Given the description of an element on the screen output the (x, y) to click on. 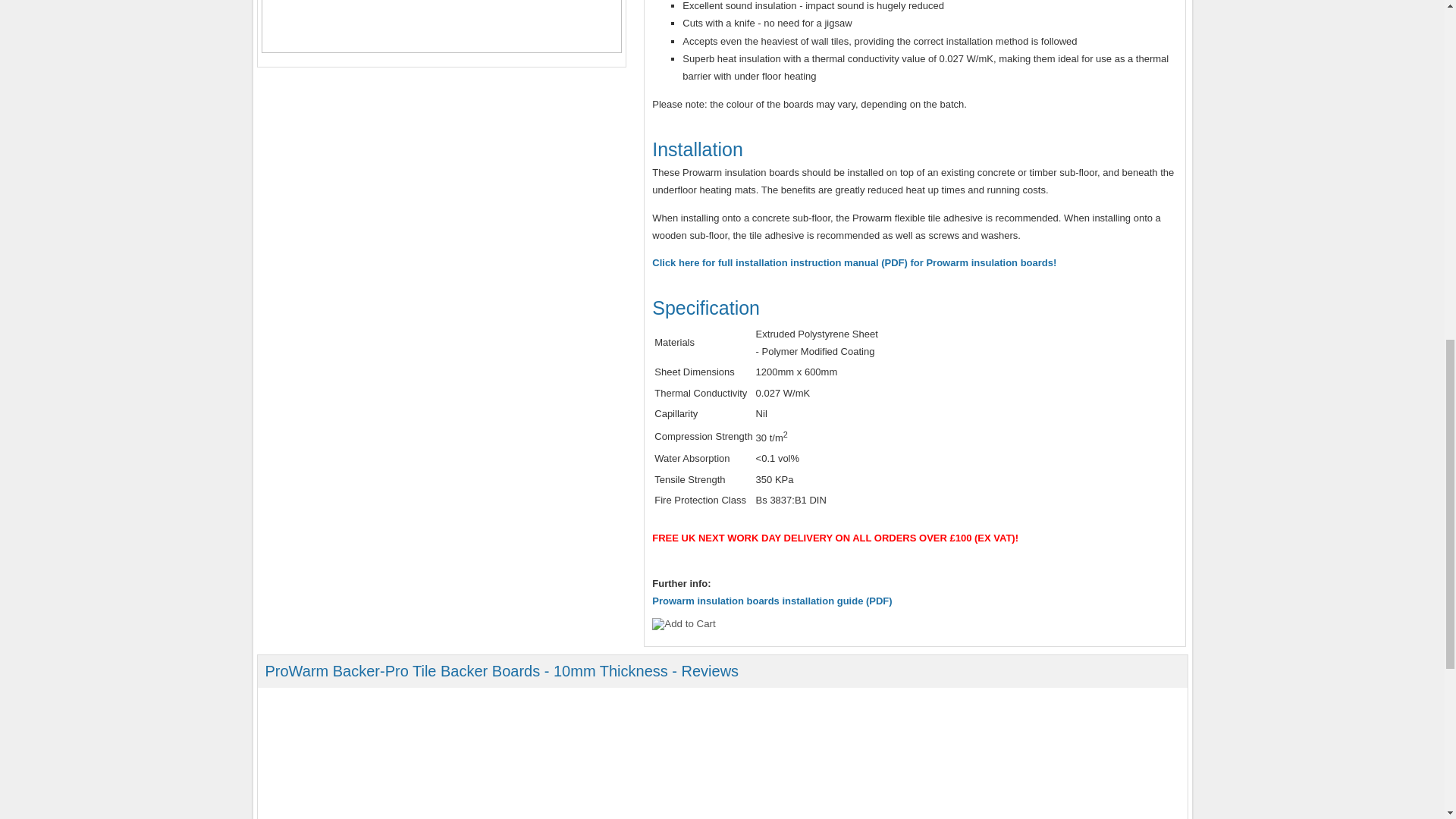
Customer reviews powered by Trustpilot (721, 759)
